Given the description of an element on the screen output the (x, y) to click on. 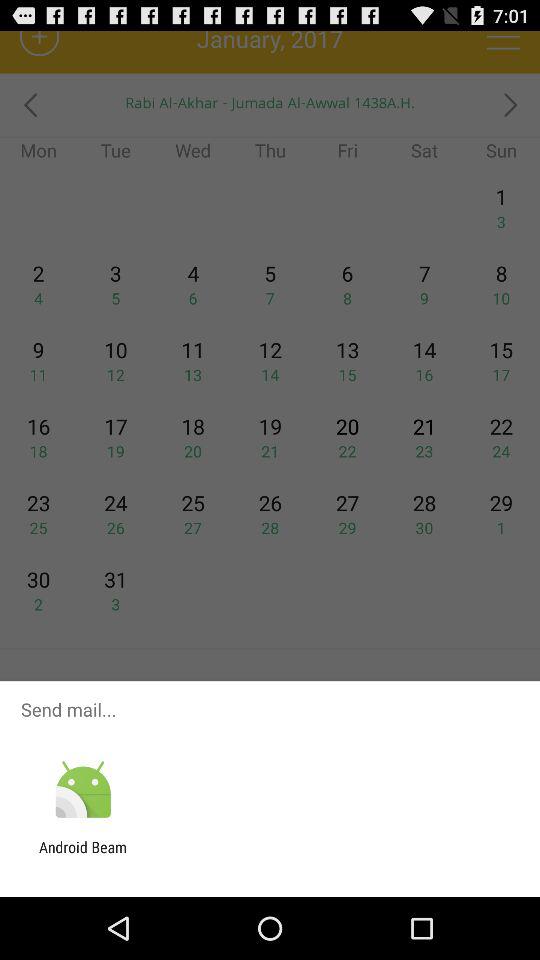
press the app above the android beam icon (82, 789)
